Given the description of an element on the screen output the (x, y) to click on. 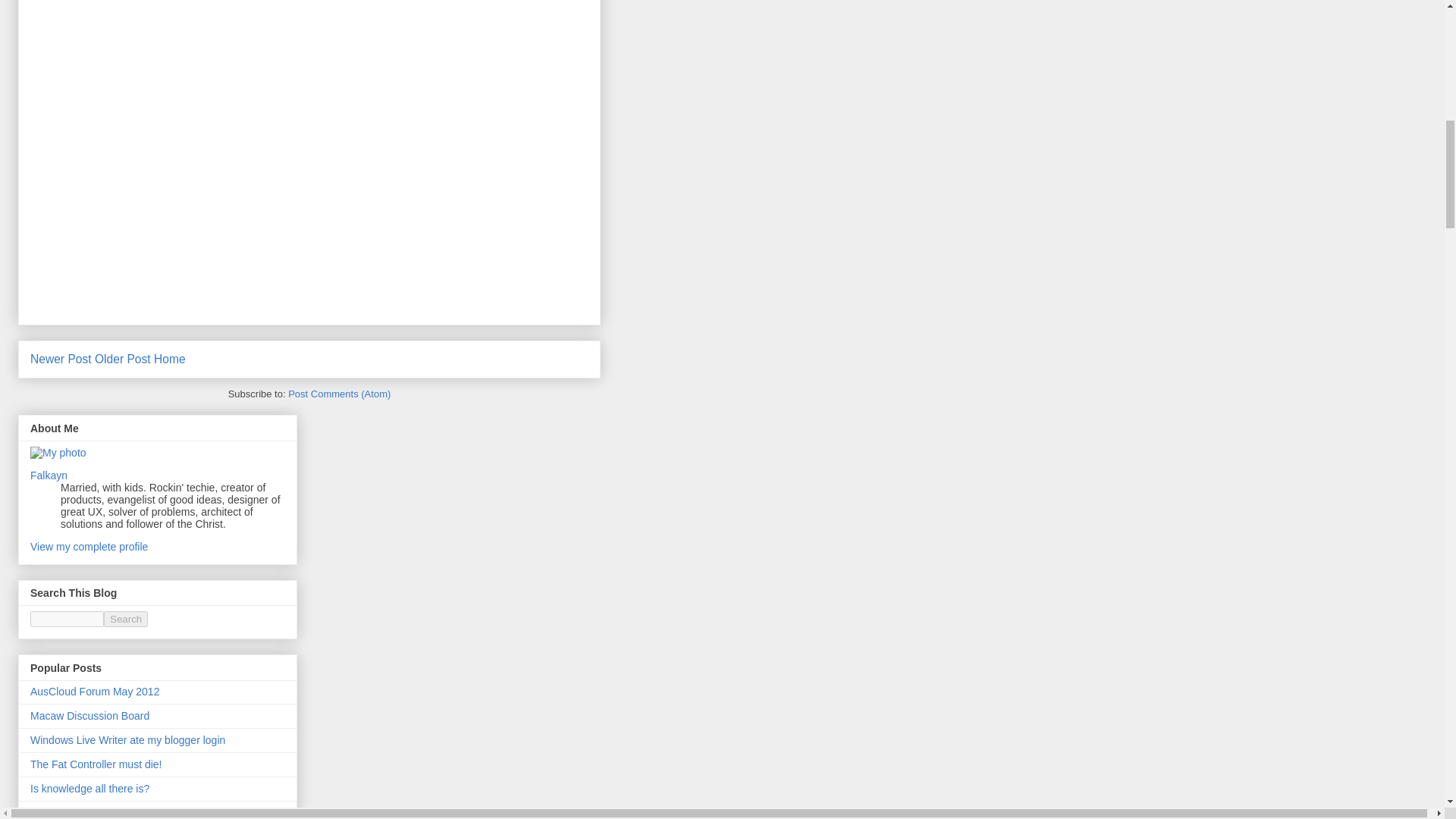
Search (125, 618)
View my complete profile (89, 546)
Falkayn (48, 475)
The Fat Controller must die! (95, 764)
Newer Post (60, 358)
Windows Live Writer ate my blogger login (127, 739)
Search (125, 618)
Older Post (122, 358)
Older Post (122, 358)
Home (170, 358)
search (125, 618)
Search (125, 618)
Newer Post (60, 358)
Is knowledge all there is? (89, 788)
Evaporating Web Records (92, 812)
